Given the description of an element on the screen output the (x, y) to click on. 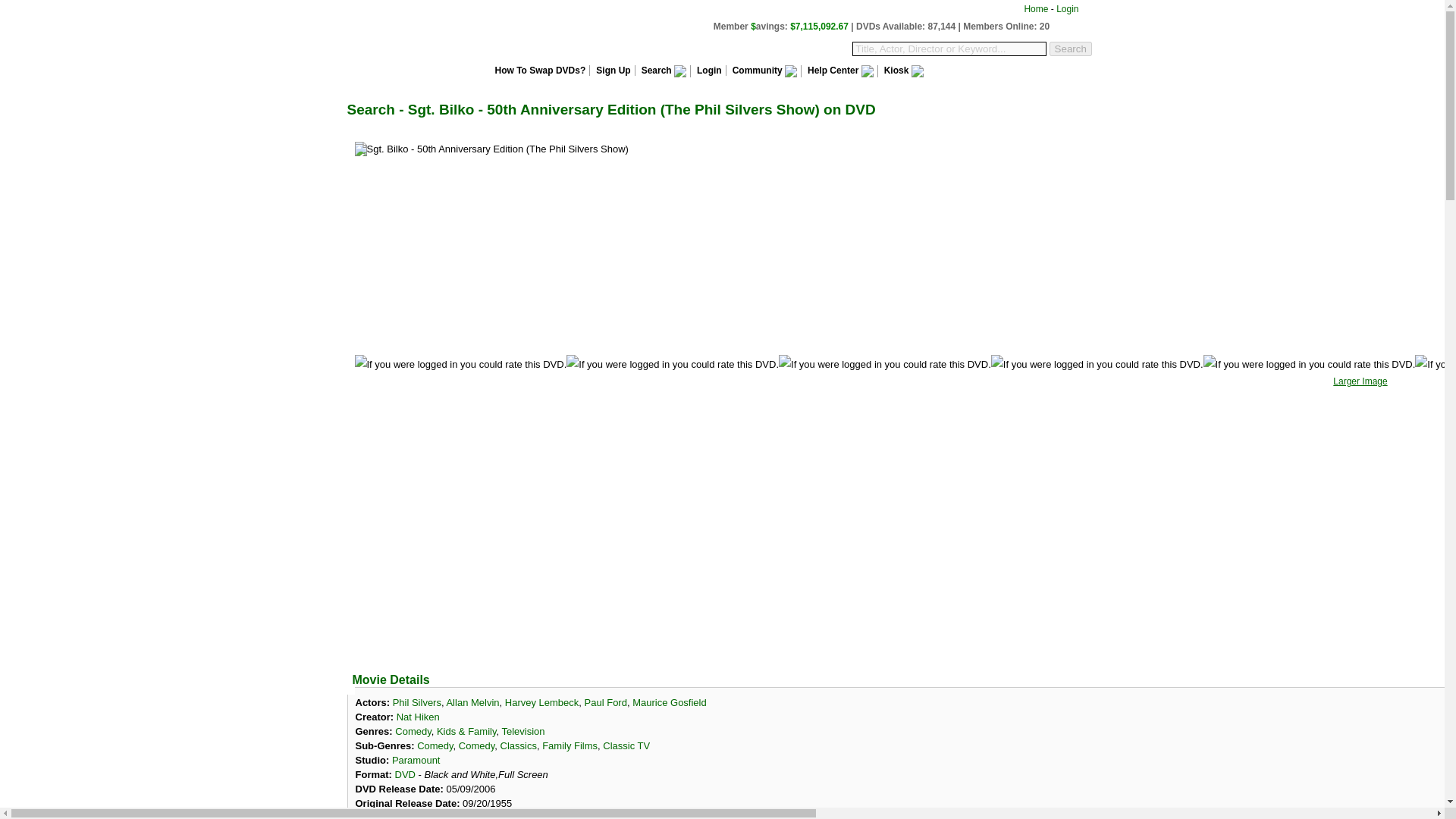
If you were logged in you could rate this DVD. (461, 363)
Search (662, 70)
Home (1035, 9)
If you were logged in you could rate this DVD. (1309, 363)
Login (1067, 9)
Kiosk (900, 70)
If you were logged in you could rate this DVD. (1435, 363)
Community (764, 70)
Sign Up (611, 70)
If you were logged in you could rate this DVD. (884, 363)
How To Swap DVDs? (538, 70)
The Pulse of SwapaDVD (882, 26)
Help Center (839, 70)
Login (708, 70)
Search (1070, 48)
